Given the description of an element on the screen output the (x, y) to click on. 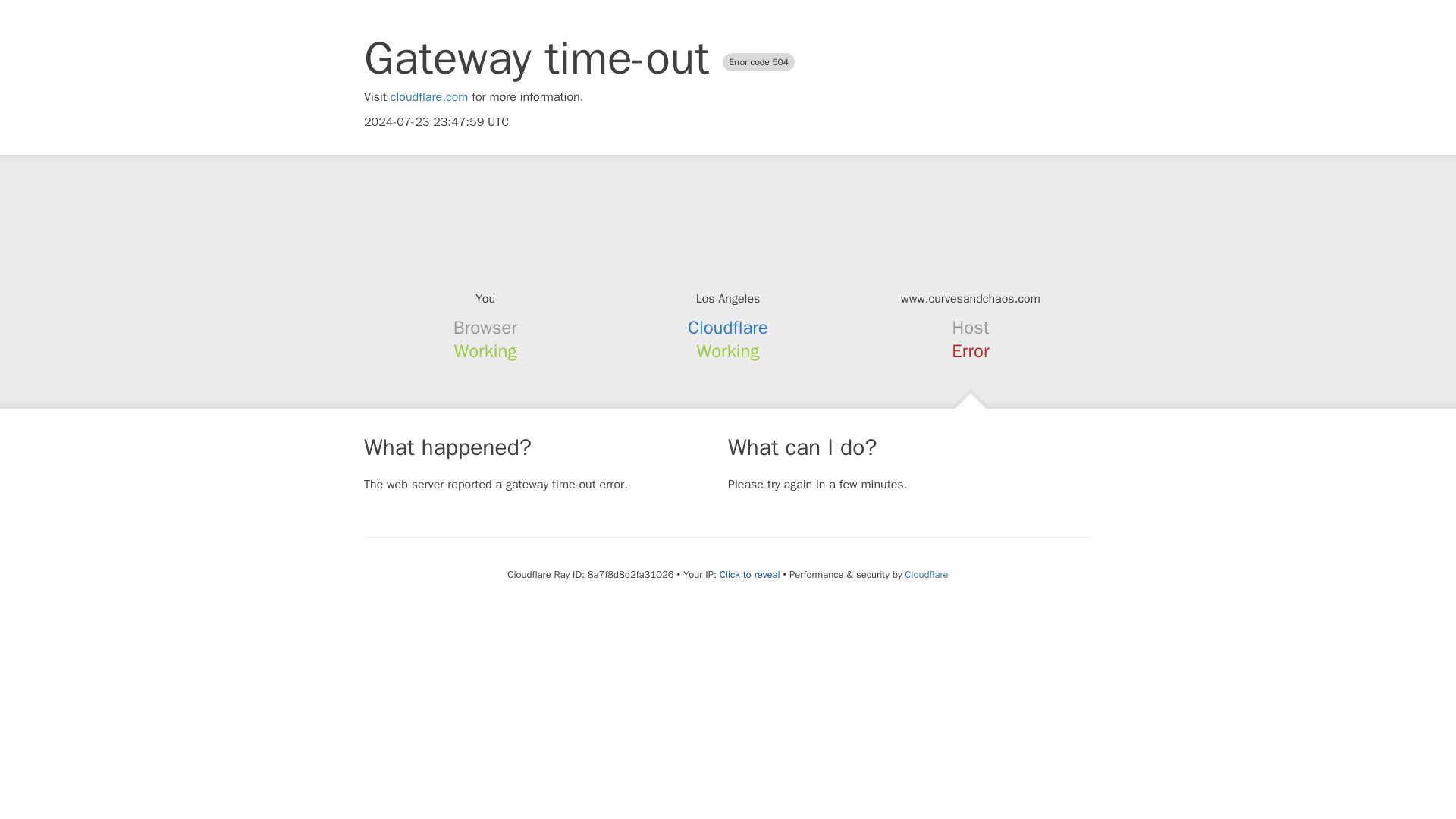
Cloudflare (727, 327)
Click to reveal (749, 574)
Cloudflare (925, 574)
cloudflare.com (429, 96)
